Given the description of an element on the screen output the (x, y) to click on. 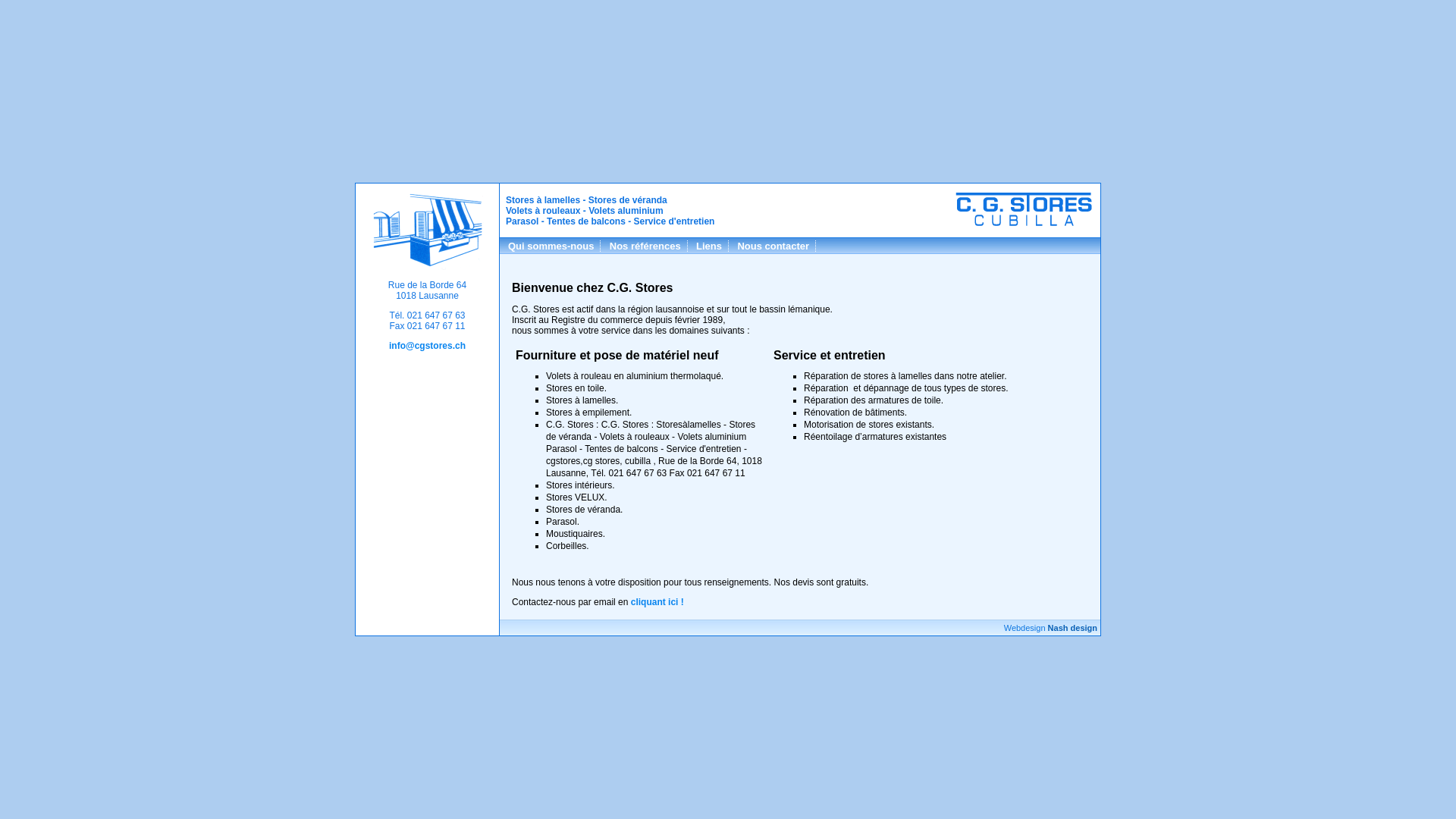
Liens Element type: text (709, 245)
Nash design Element type: text (1072, 627)
info@cgstores.ch Element type: text (427, 345)
cliquant ici ! Element type: text (657, 601)
Nous contacter Element type: text (773, 245)
Qui sommes-nous Element type: text (551, 245)
